Given the description of an element on the screen output the (x, y) to click on. 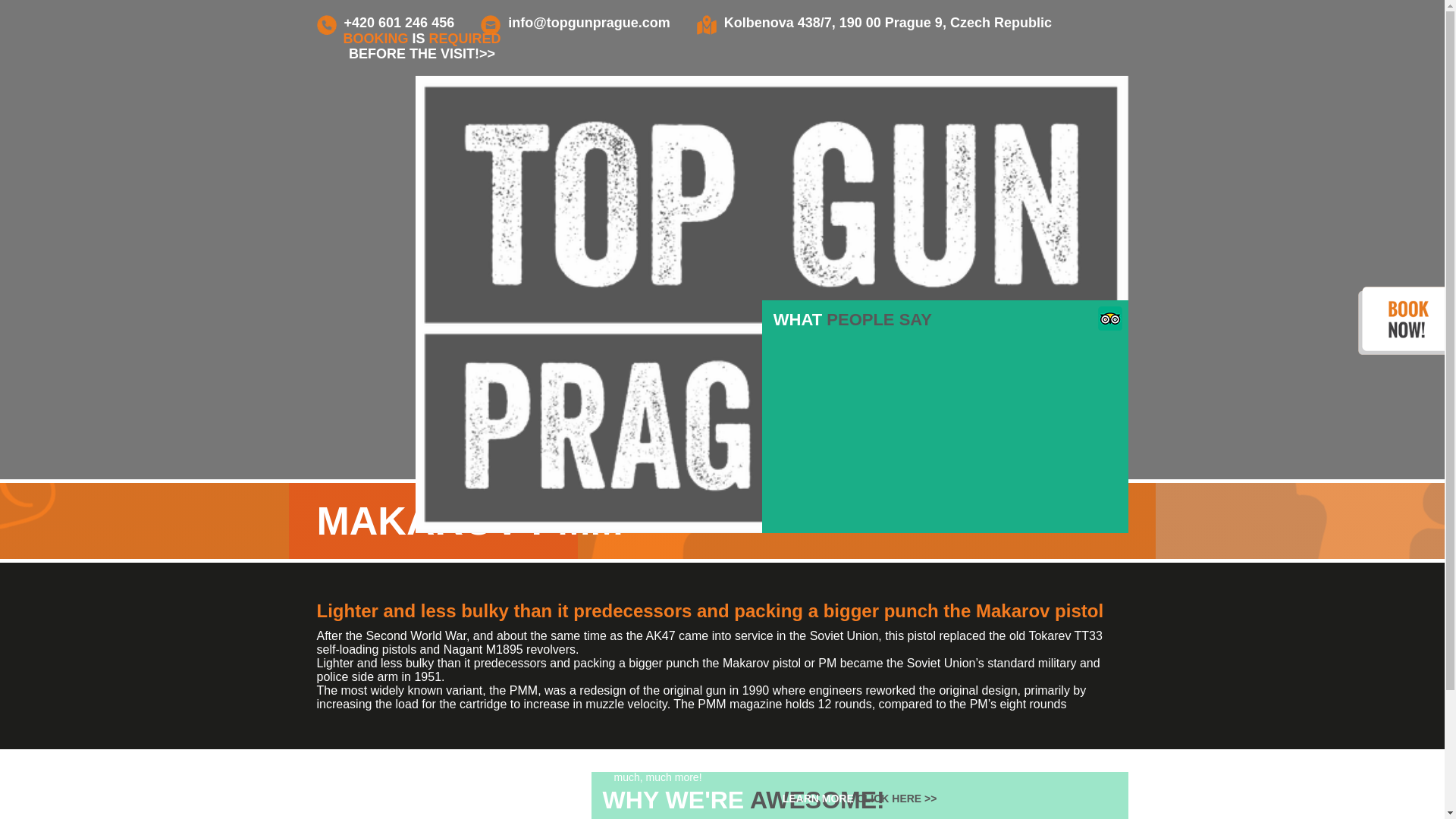
Book Now (944, 416)
Book Now (859, 793)
Allow cookies to read reviews from TripAdvisor (854, 795)
Read traveller reviews on Tripadvisor (1109, 326)
BOOK NOW (944, 416)
